Given the description of an element on the screen output the (x, y) to click on. 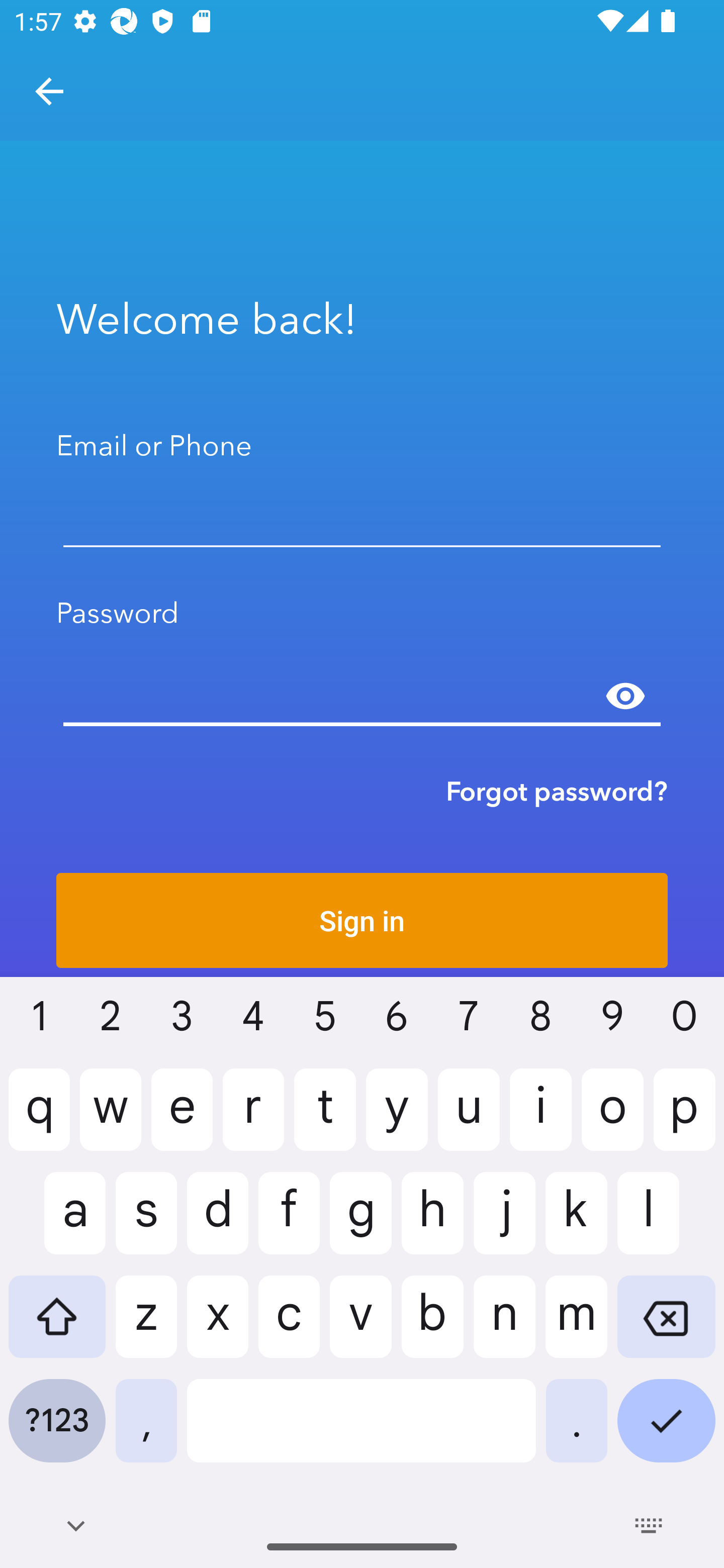
Navigate up (49, 91)
Show password (625, 695)
Forgot password? (556, 790)
Sign in (361, 920)
